Given the description of an element on the screen output the (x, y) to click on. 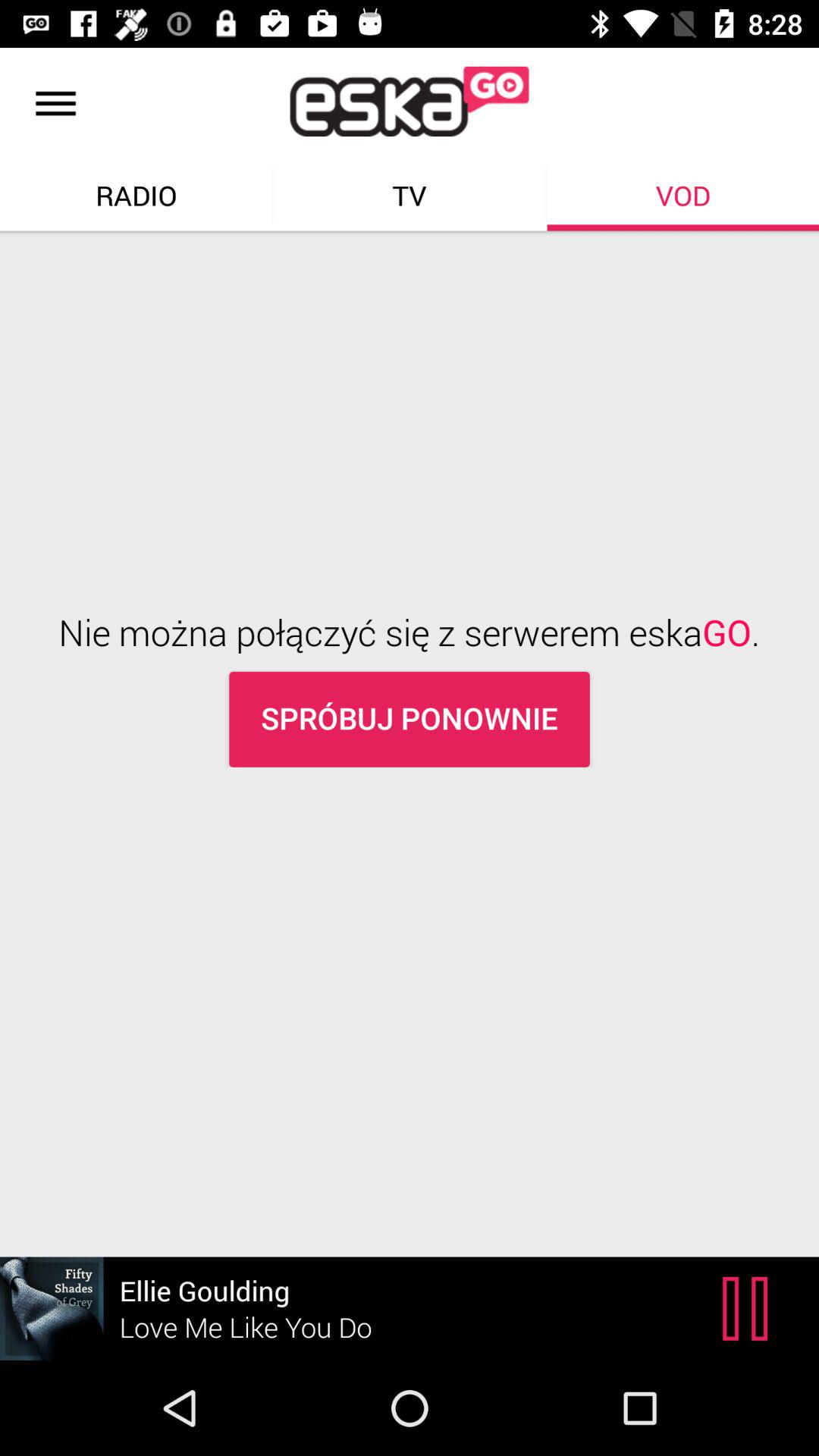
click on the pause icon on the bottom right corner of the page (749, 1308)
go to text right to radio (409, 194)
